Given the description of an element on the screen output the (x, y) to click on. 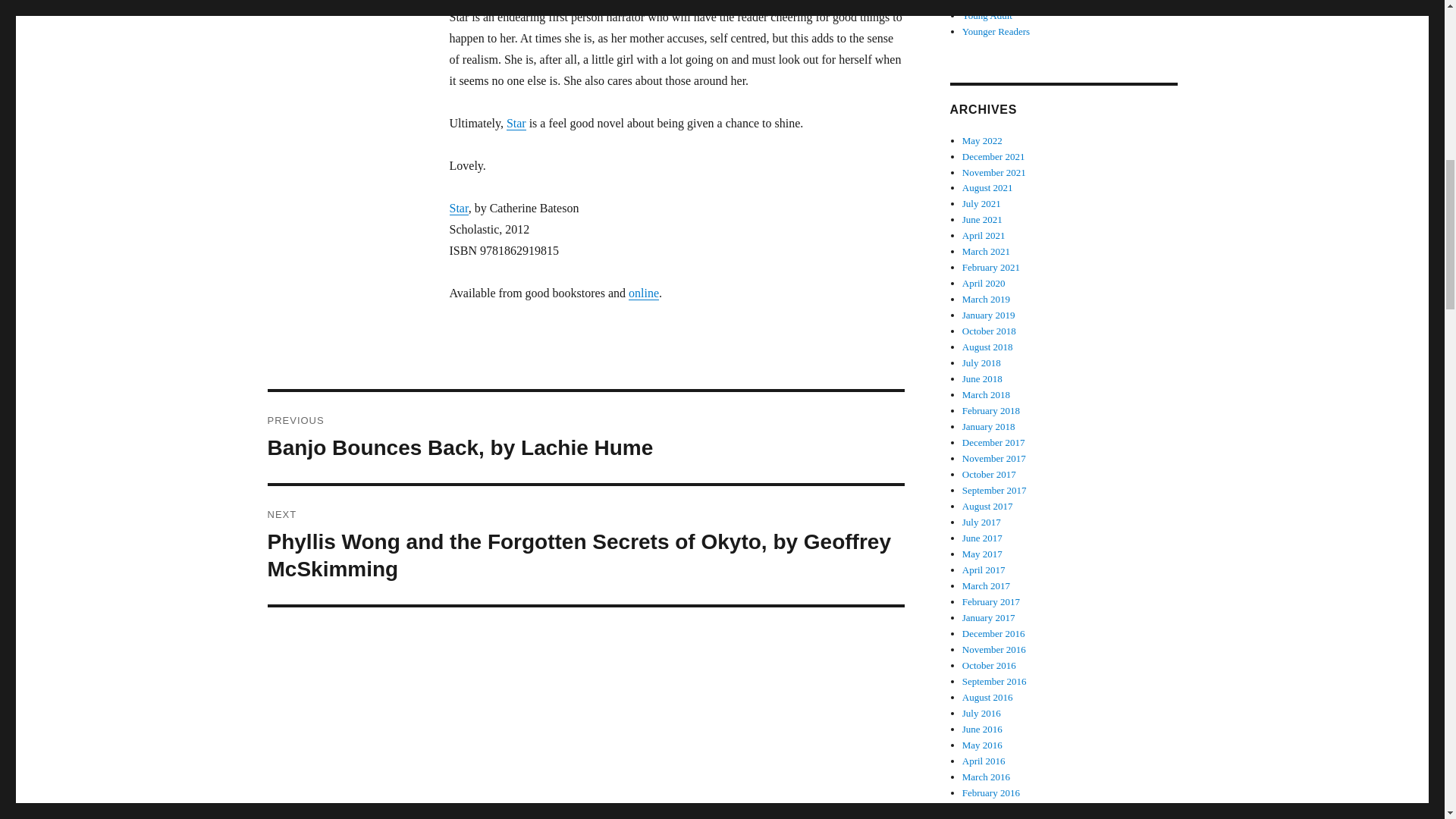
Star (515, 123)
August 2021 (987, 187)
Star (457, 207)
May 2022 (982, 140)
June 2021 (982, 219)
Young Adult (986, 15)
December 2021 (993, 156)
Younger Readers (995, 30)
online (643, 292)
April 2021 (984, 235)
July 2021 (981, 203)
Uncategorised (990, 2)
November 2021 (994, 172)
March 2021 (986, 251)
